Given the description of an element on the screen output the (x, y) to click on. 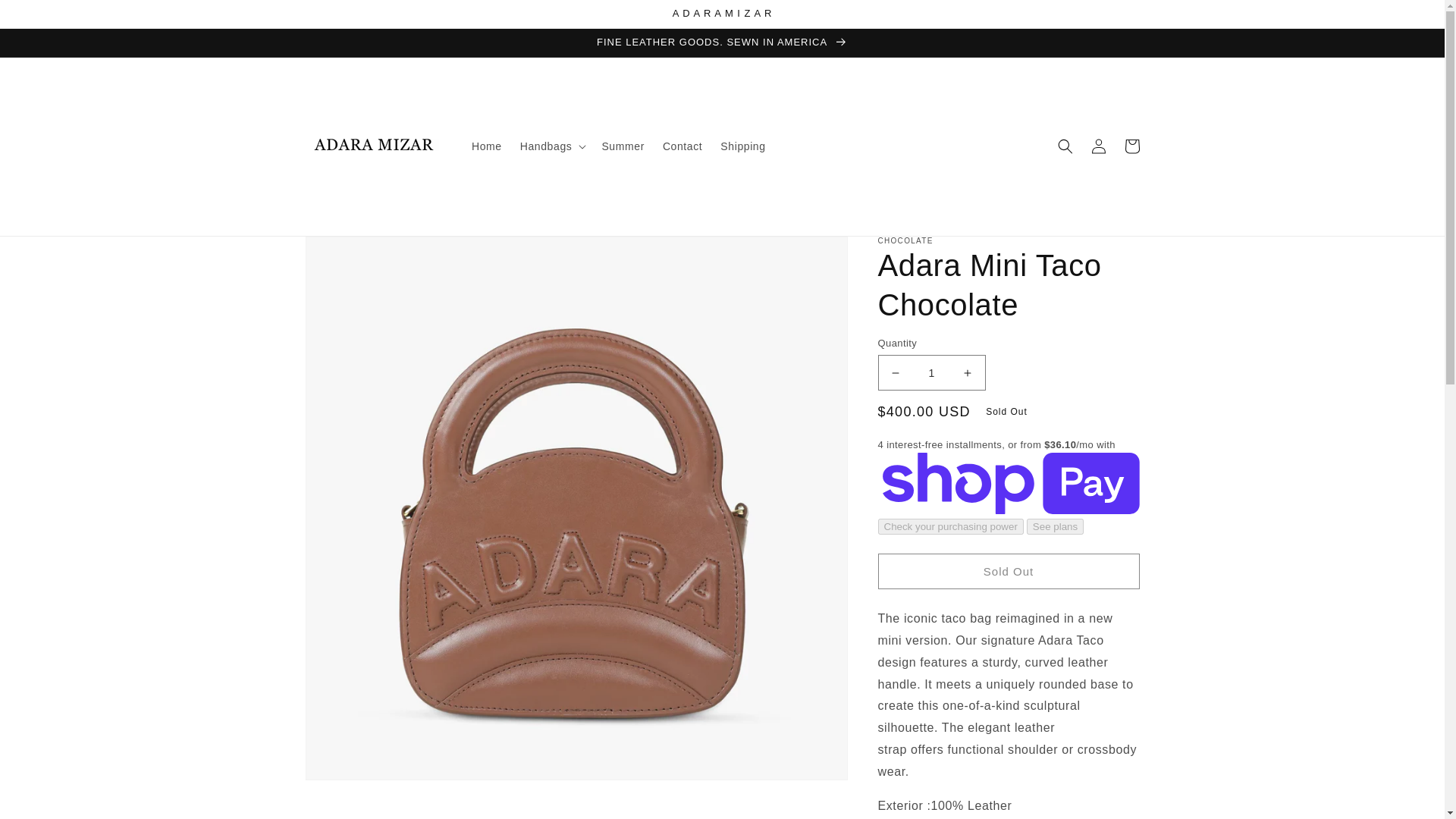
1 (931, 372)
Sold Out (1008, 570)
Home (487, 146)
Skip to content (45, 17)
Contact (682, 146)
Summer (622, 146)
Cart (1131, 145)
Decrease quantity for Adara Mini Taco Chocolate (894, 372)
Shipping (742, 146)
Skip to product information (350, 253)
